Given the description of an element on the screen output the (x, y) to click on. 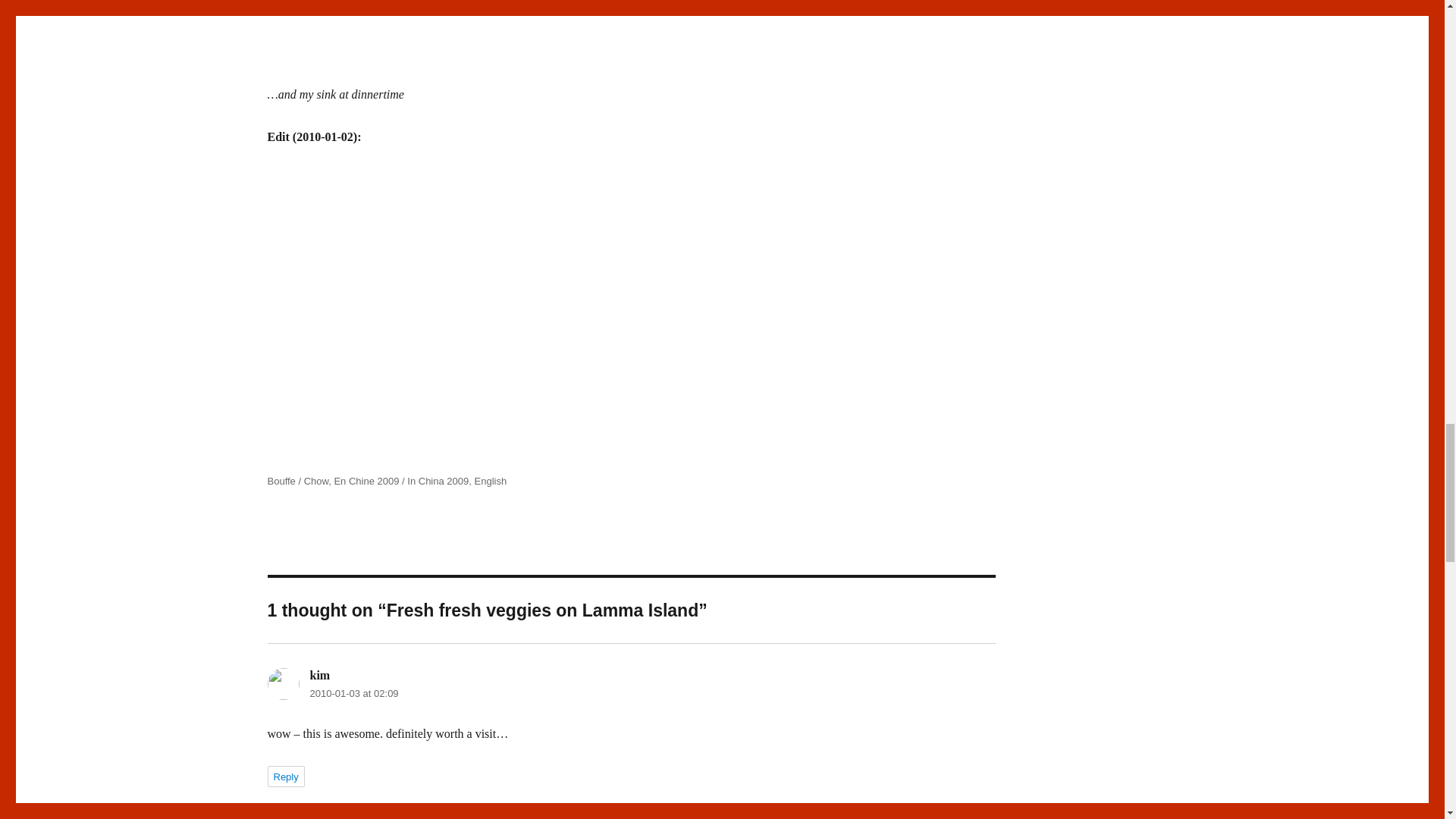
2010-01-03 at 02:09 (352, 693)
English (490, 480)
Reply (285, 776)
